Given the description of an element on the screen output the (x, y) to click on. 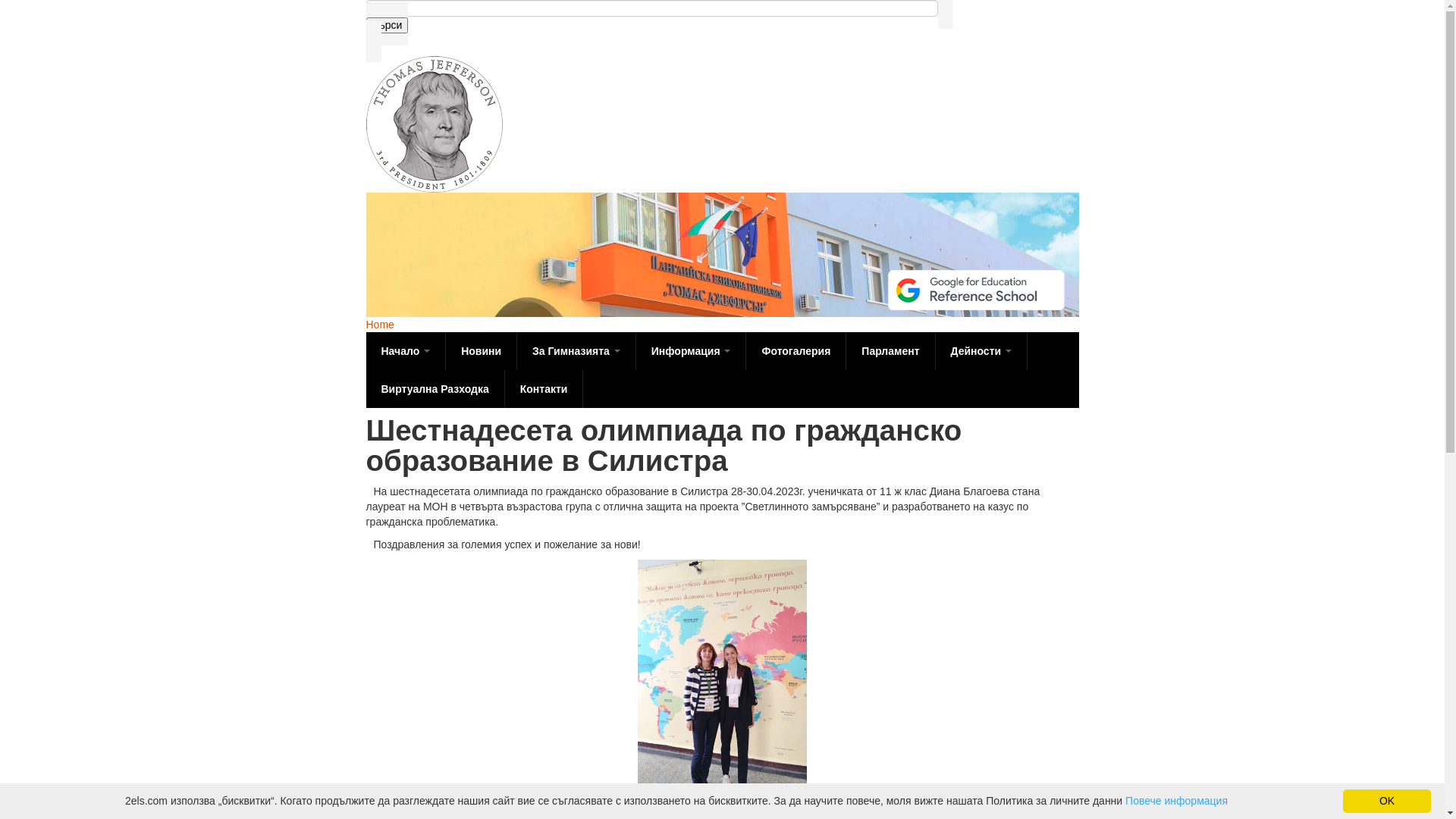
Home Element type: text (379, 324)
